Given the description of an element on the screen output the (x, y) to click on. 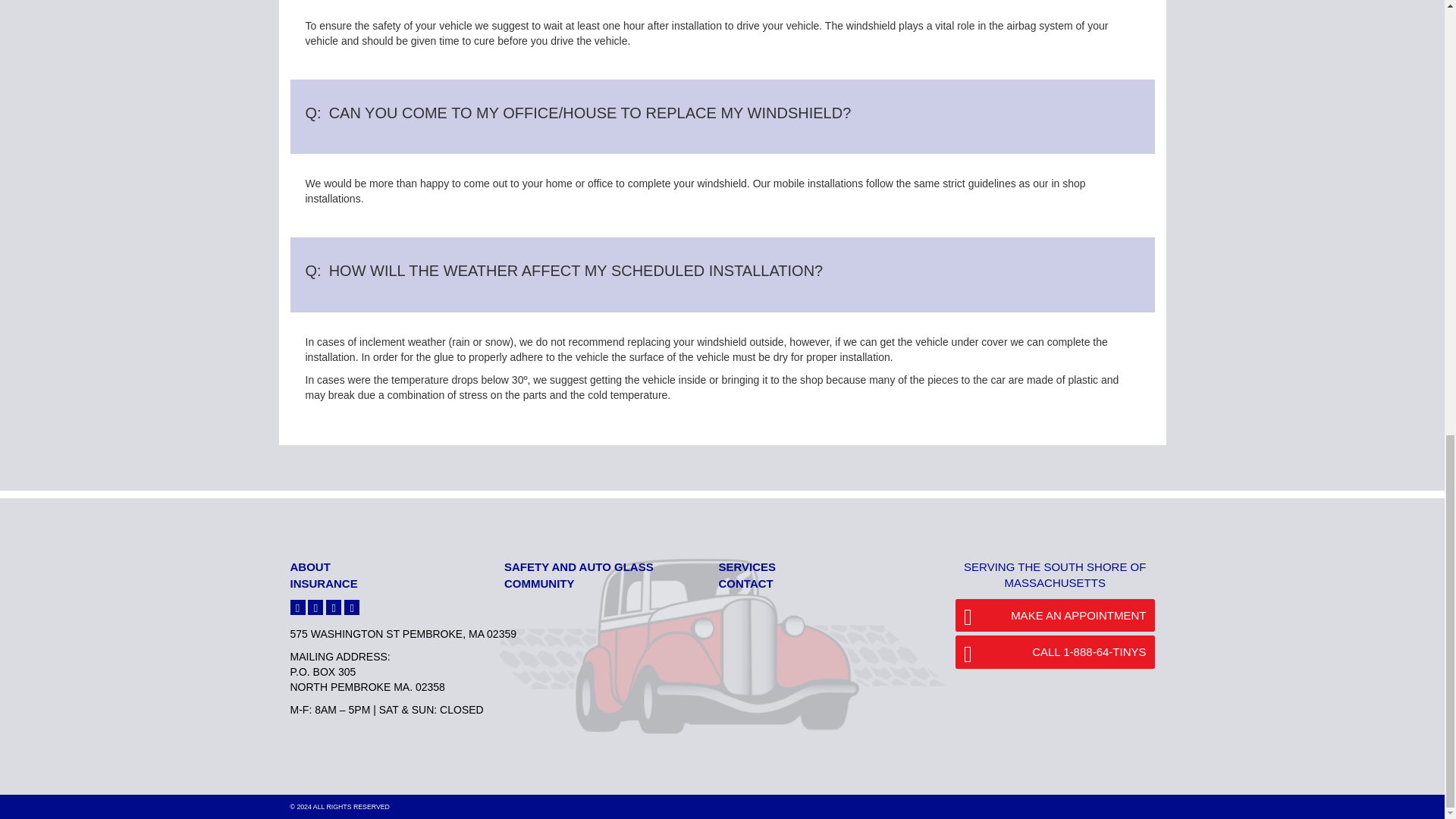
MAKE AN APPOINTMENT (1054, 614)
ABOUT (309, 566)
CALL 1-888-64-TINYS (1054, 651)
SERVICES (747, 566)
SAFETY AND AUTO GLASS (578, 566)
